Given the description of an element on the screen output the (x, y) to click on. 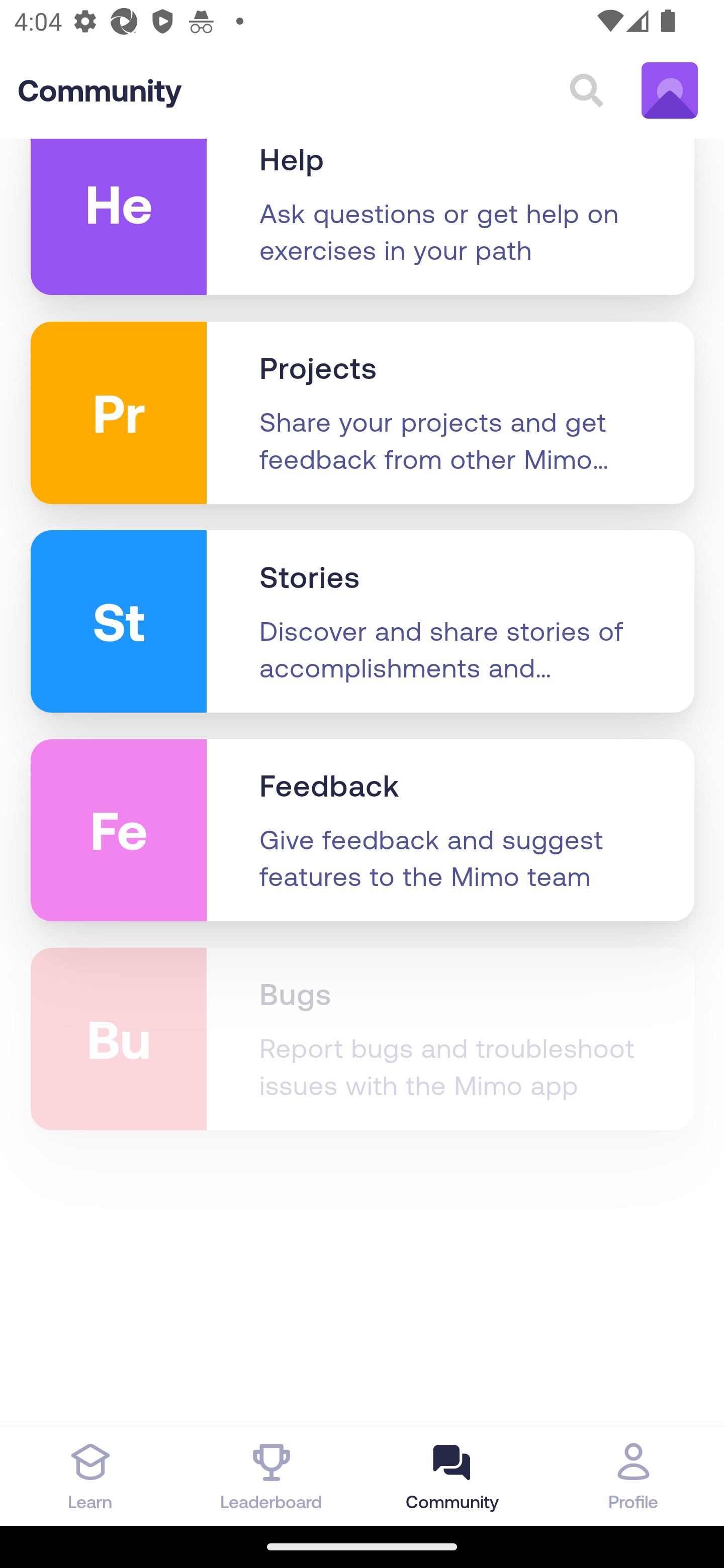
Search (586, 91)
Test Appium's account (669, 91)
Community (100, 92)
Help (291, 162)
Projects (317, 370)
Stories (309, 579)
Feedback (329, 787)
Bugs (295, 995)
Learn (90, 1475)
Leaderboard (271, 1475)
Profile (633, 1475)
